Given the description of an element on the screen output the (x, y) to click on. 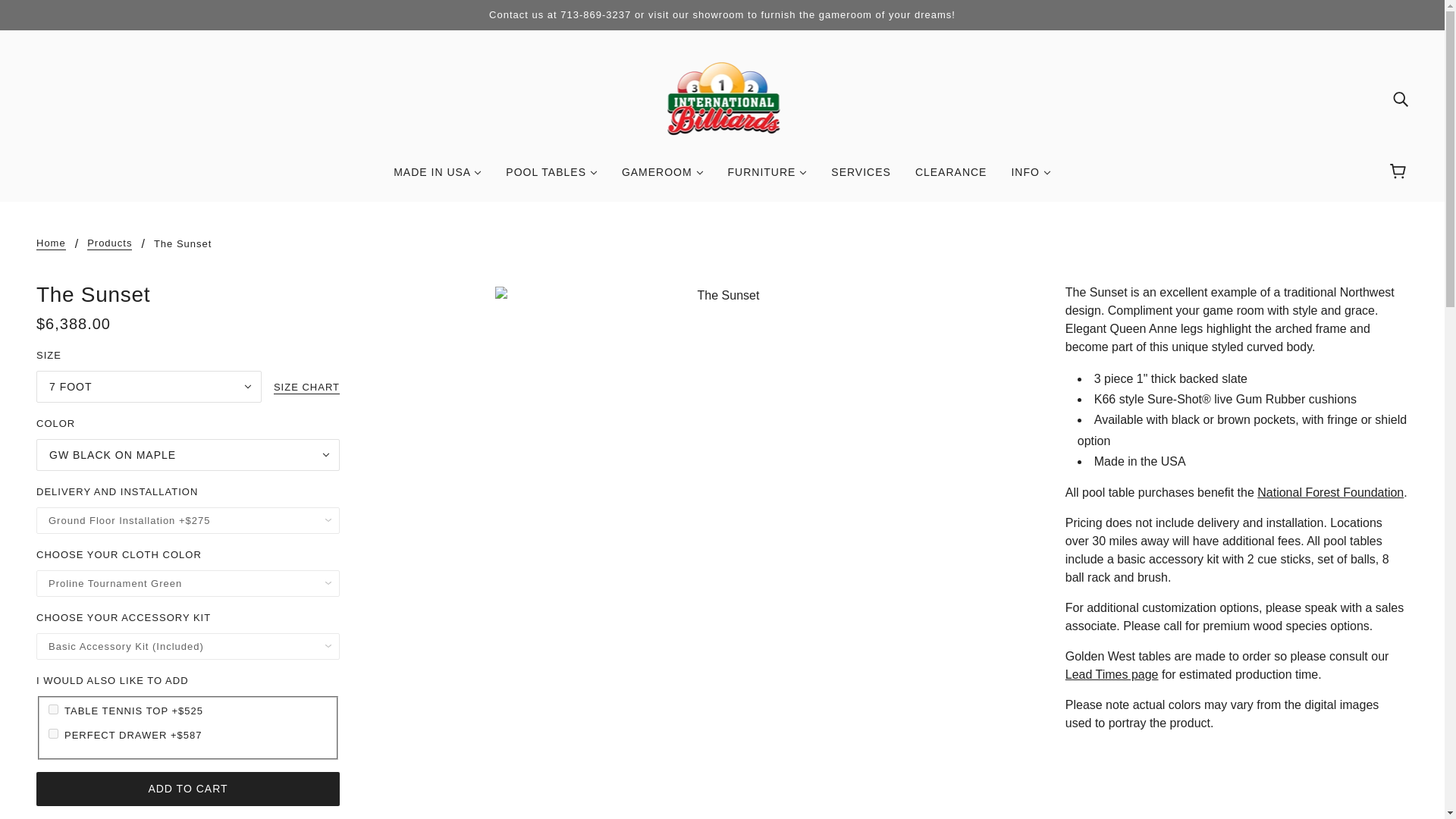
FURNITURE (767, 177)
GAMEROOM (663, 177)
POOL TABLES (551, 177)
SERVICES (860, 177)
International Billiards (721, 97)
MADE IN USA (437, 177)
CLEARANCE (950, 177)
INFO (1030, 177)
